Given the description of an element on the screen output the (x, y) to click on. 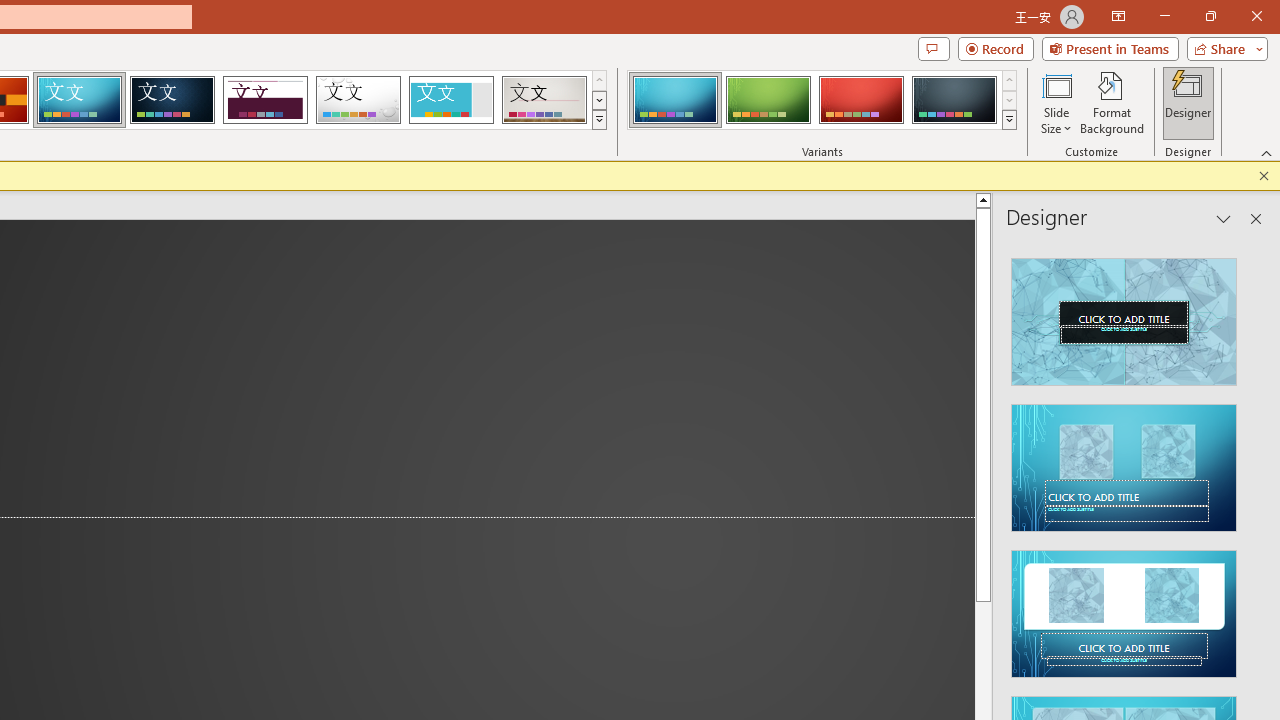
AutomationID: ThemeVariantsGallery (822, 99)
Circuit Variant 4 (953, 100)
Variants (1009, 120)
Designer (1188, 102)
Circuit Variant 1 (674, 100)
Design Idea (1124, 607)
Circuit Variant 3 (861, 100)
Task Pane Options (1224, 219)
Circuit Variant 2 (768, 100)
Class: NetUIImage (1009, 119)
Row up (1009, 79)
Themes (598, 120)
